Given the description of an element on the screen output the (x, y) to click on. 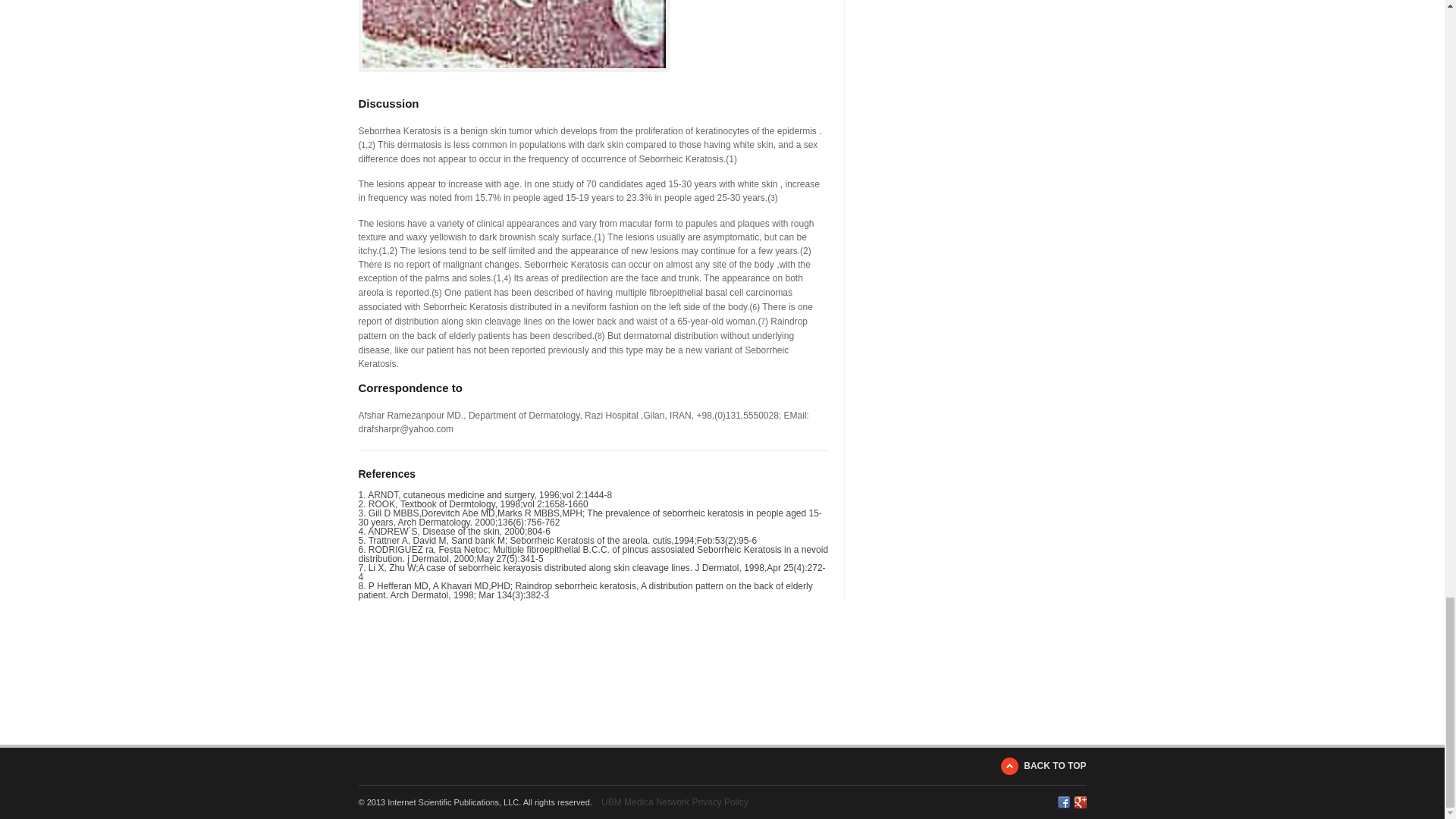
Google Plus (1080, 802)
Facebook (1062, 802)
BACK TO TOP (1043, 765)
